Given the description of an element on the screen output the (x, y) to click on. 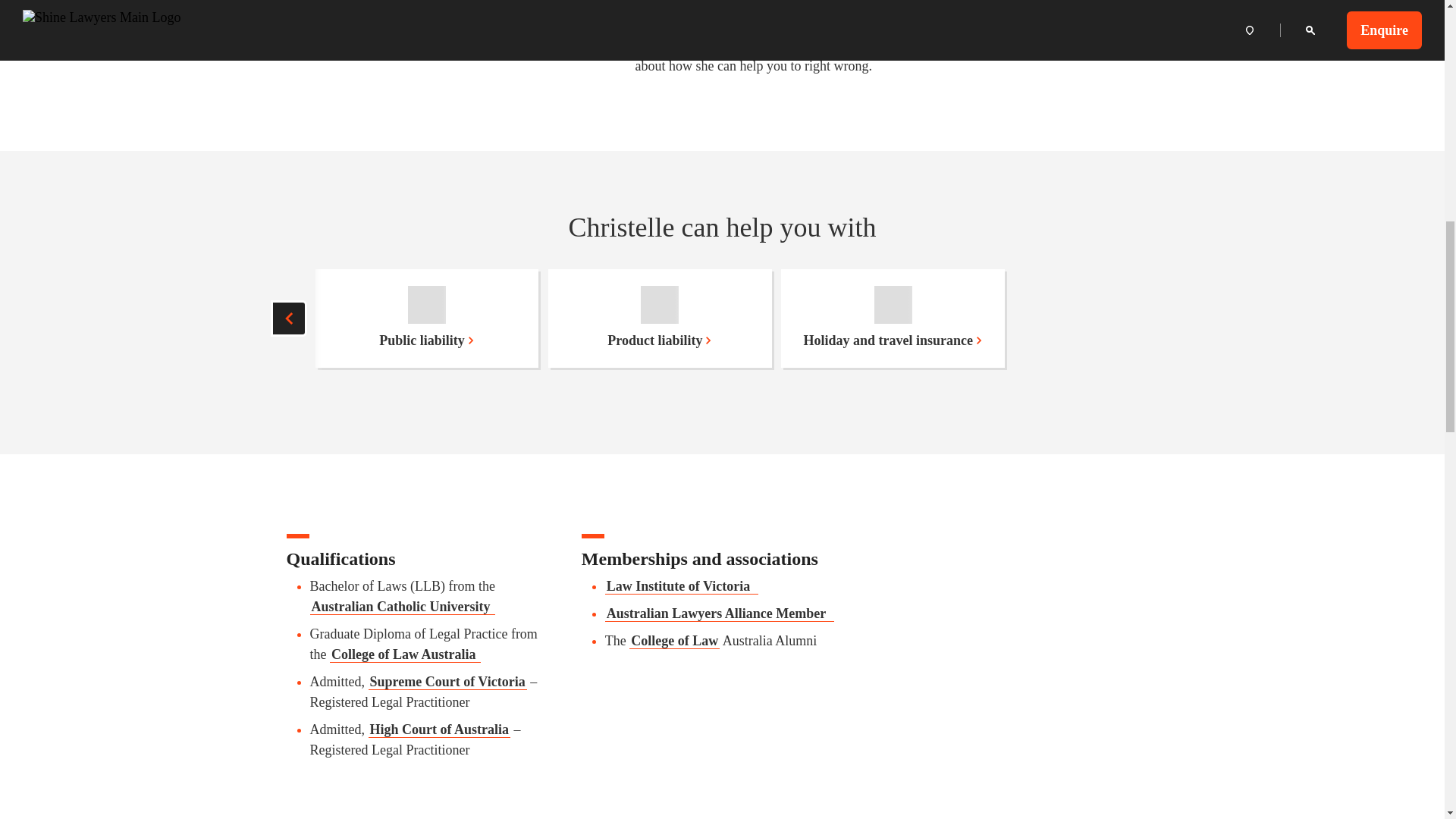
Public liability (426, 318)
Get in touch today to book a no-obligation consultation (796, 45)
Product liability (659, 318)
Law Institute of Victoria   (681, 585)
Holiday and travel insurance (892, 318)
Australian Catholic University  (401, 606)
Australian Lawyers Alliance Member   (719, 612)
High Court of Australia (439, 729)
College of Law Australia  (405, 653)
Supreme Court of Victoria (447, 681)
College of Law (673, 640)
